Given the description of an element on the screen output the (x, y) to click on. 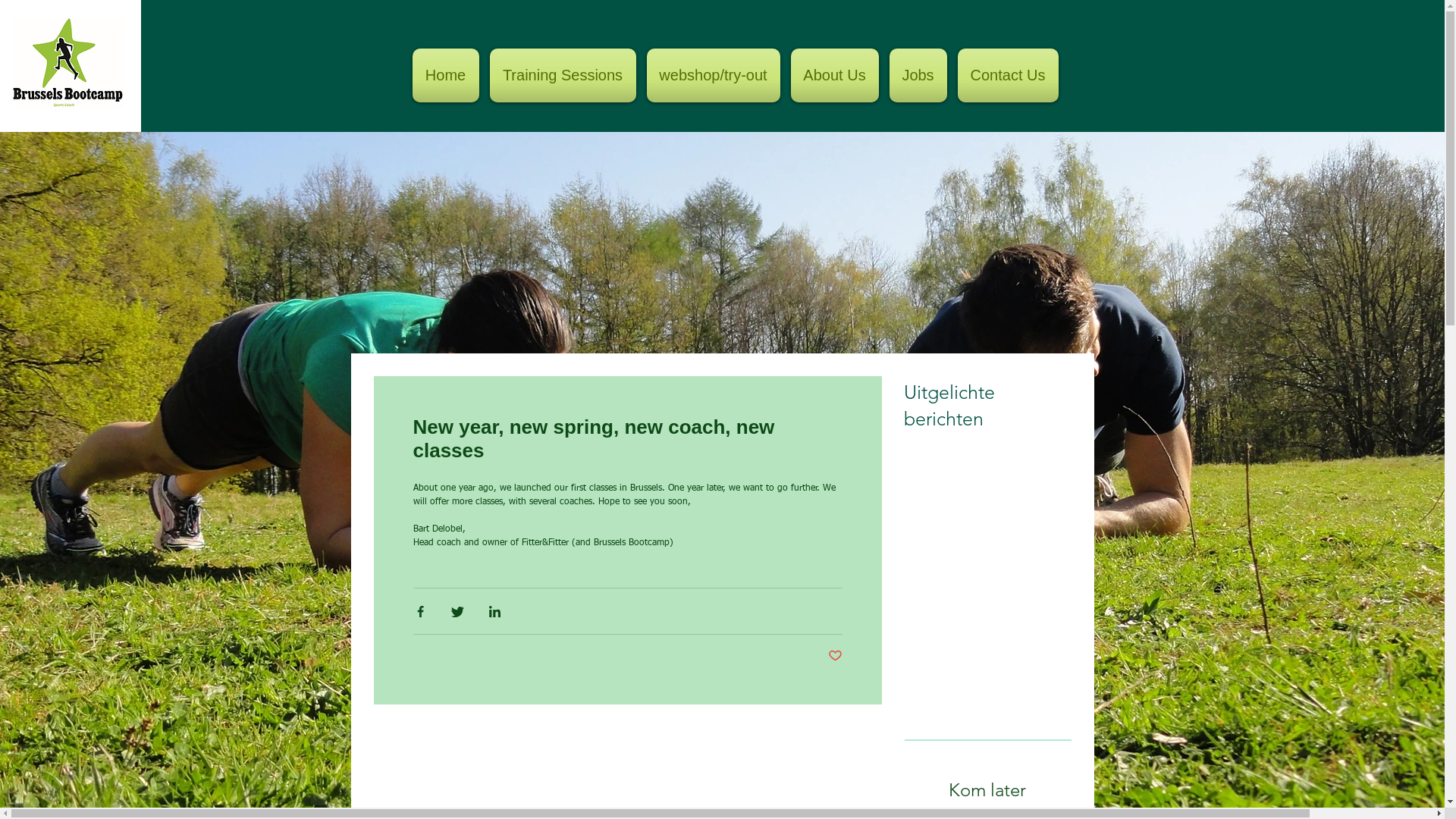
webshop/try-out Element type: text (713, 75)
About Us Element type: text (834, 75)
Contact Us Element type: text (1005, 75)
Training Sessions Element type: text (561, 75)
Home Element type: text (448, 75)
Jobs Element type: text (918, 75)
Post is niet als leuk gemarkeerd Element type: text (835, 656)
